Given the description of an element on the screen output the (x, y) to click on. 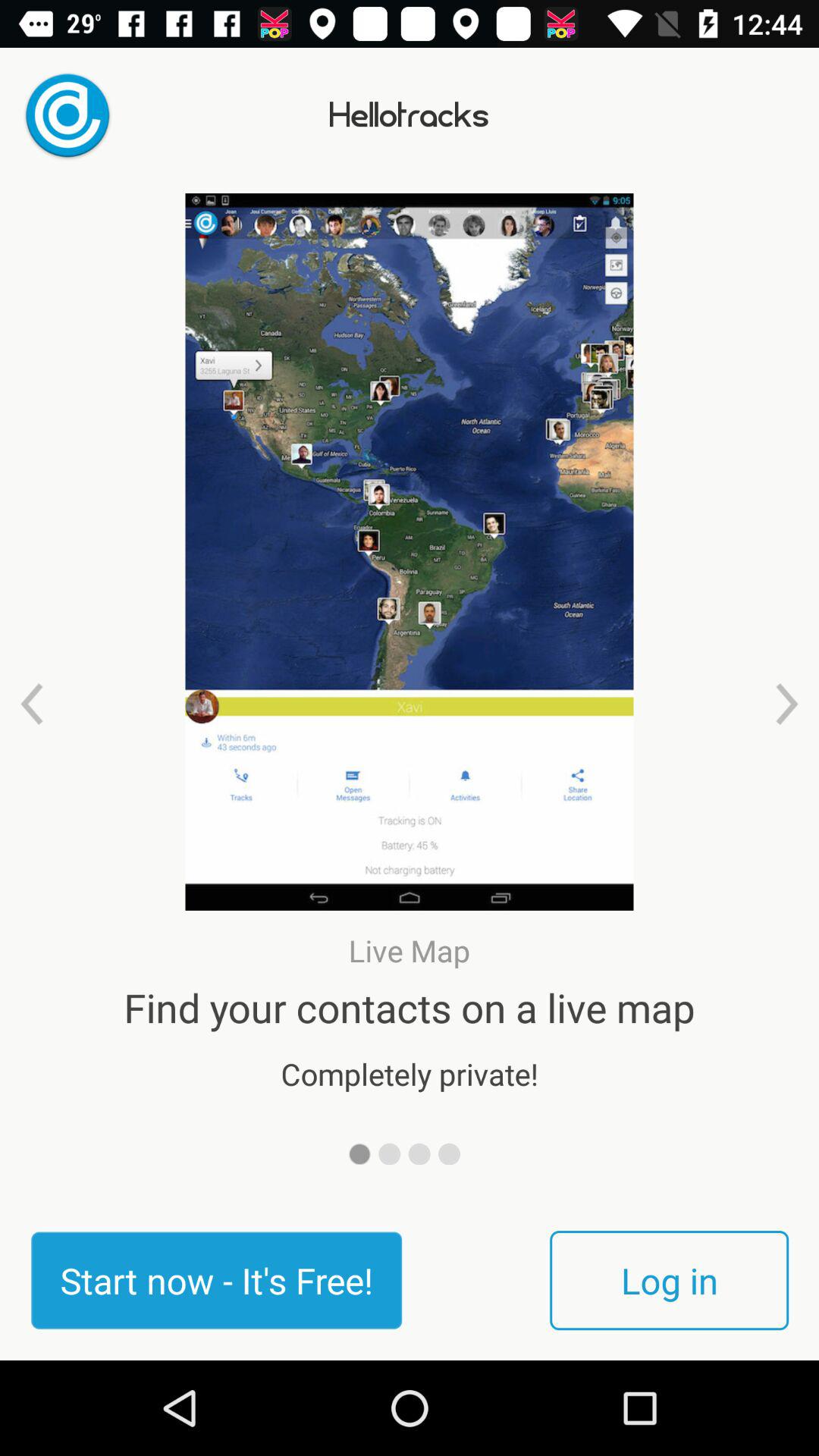
turn on the log in (668, 1280)
